Given the description of an element on the screen output the (x, y) to click on. 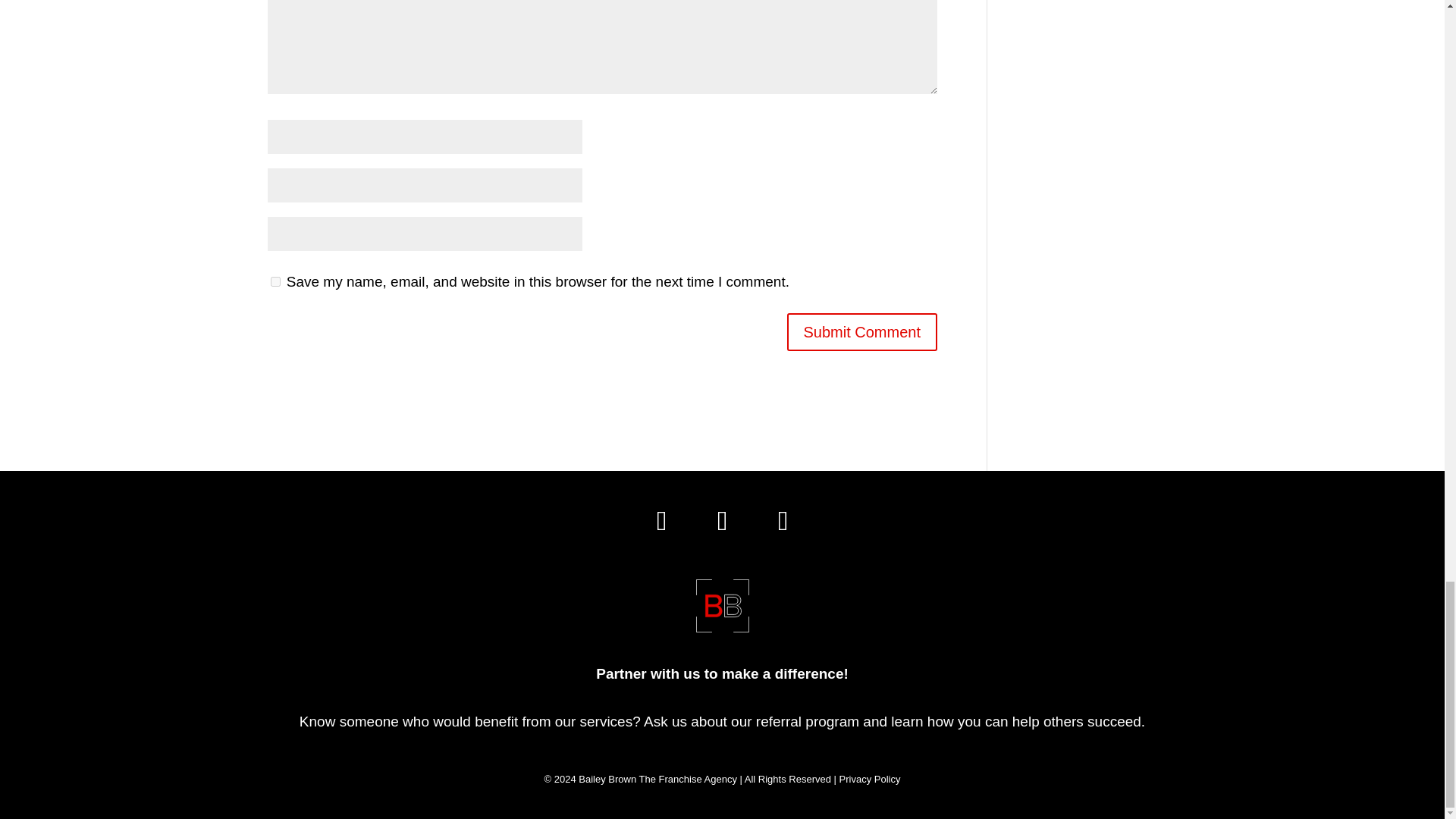
Follow on LinkedIn (782, 520)
Submit Comment (862, 331)
Follow on Instagram (660, 520)
Follow on Facebook (721, 520)
yes (274, 281)
Submit Comment (862, 331)
